Given the description of an element on the screen output the (x, y) to click on. 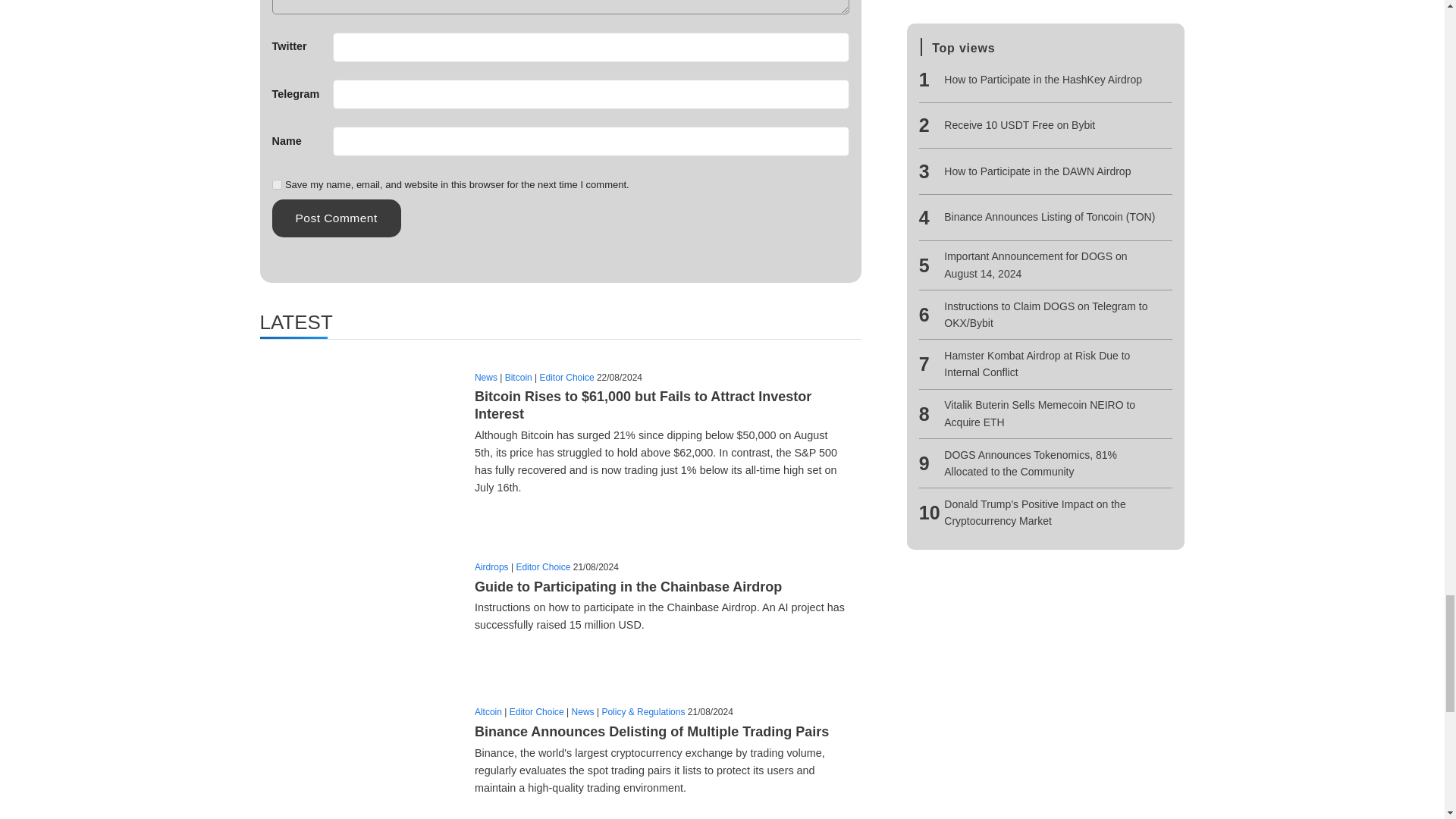
Binance Announces Delisting of Multiple Trading Pairs 8 (358, 754)
Guide to Participating in the Chainbase Airdrop 7 (358, 600)
yes (275, 184)
Post Comment (335, 217)
